Given the description of an element on the screen output the (x, y) to click on. 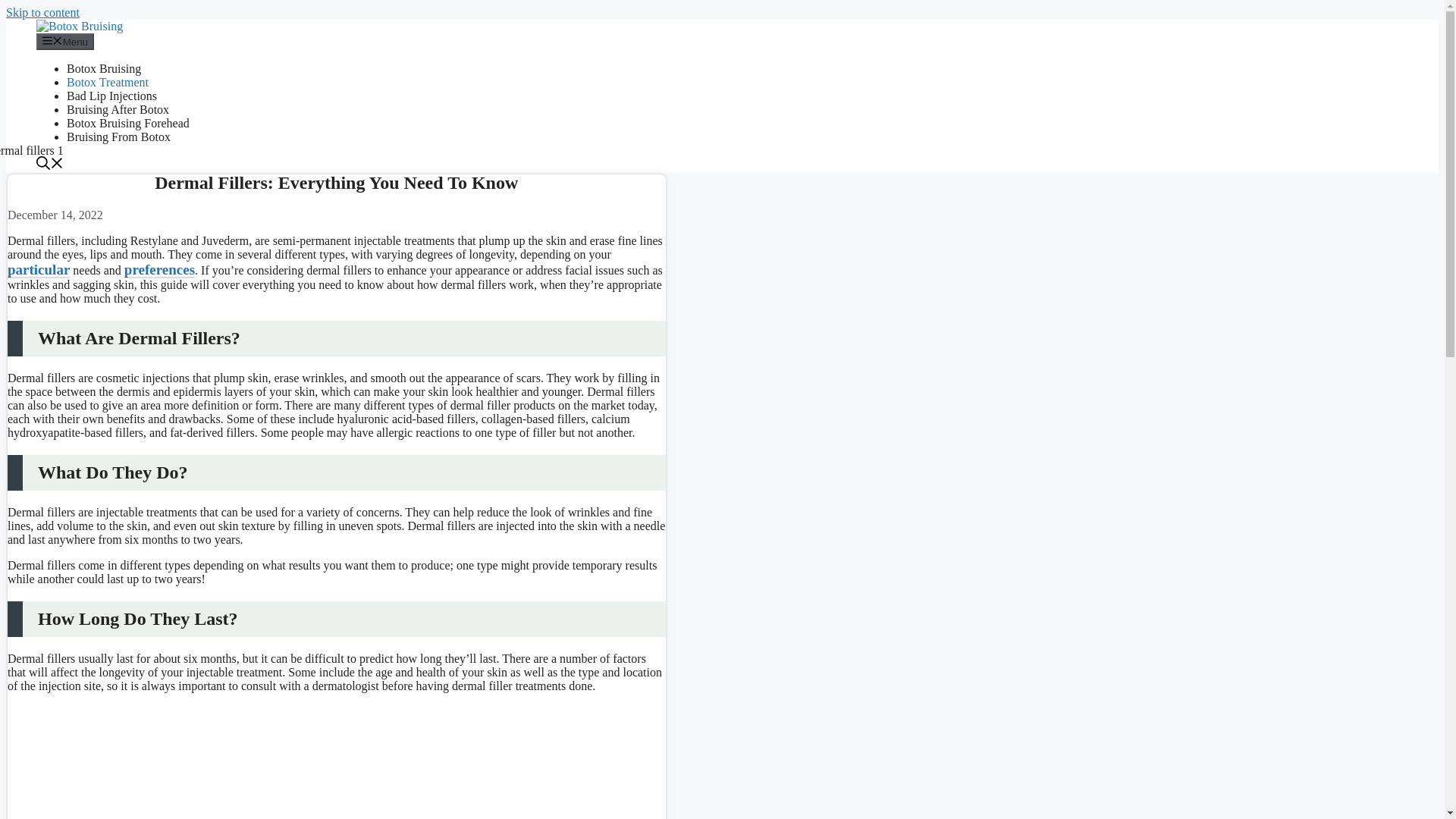
Botox Bruising (79, 26)
particular (38, 270)
Botox Bruising Forehead (127, 123)
Bad Lip Injections (111, 95)
Botox Bruising (79, 25)
preferences (159, 270)
Skip to content (42, 11)
dermal-fillers (202, 762)
Bruising After Botox (117, 109)
Menu (65, 41)
